Given the description of an element on the screen output the (x, y) to click on. 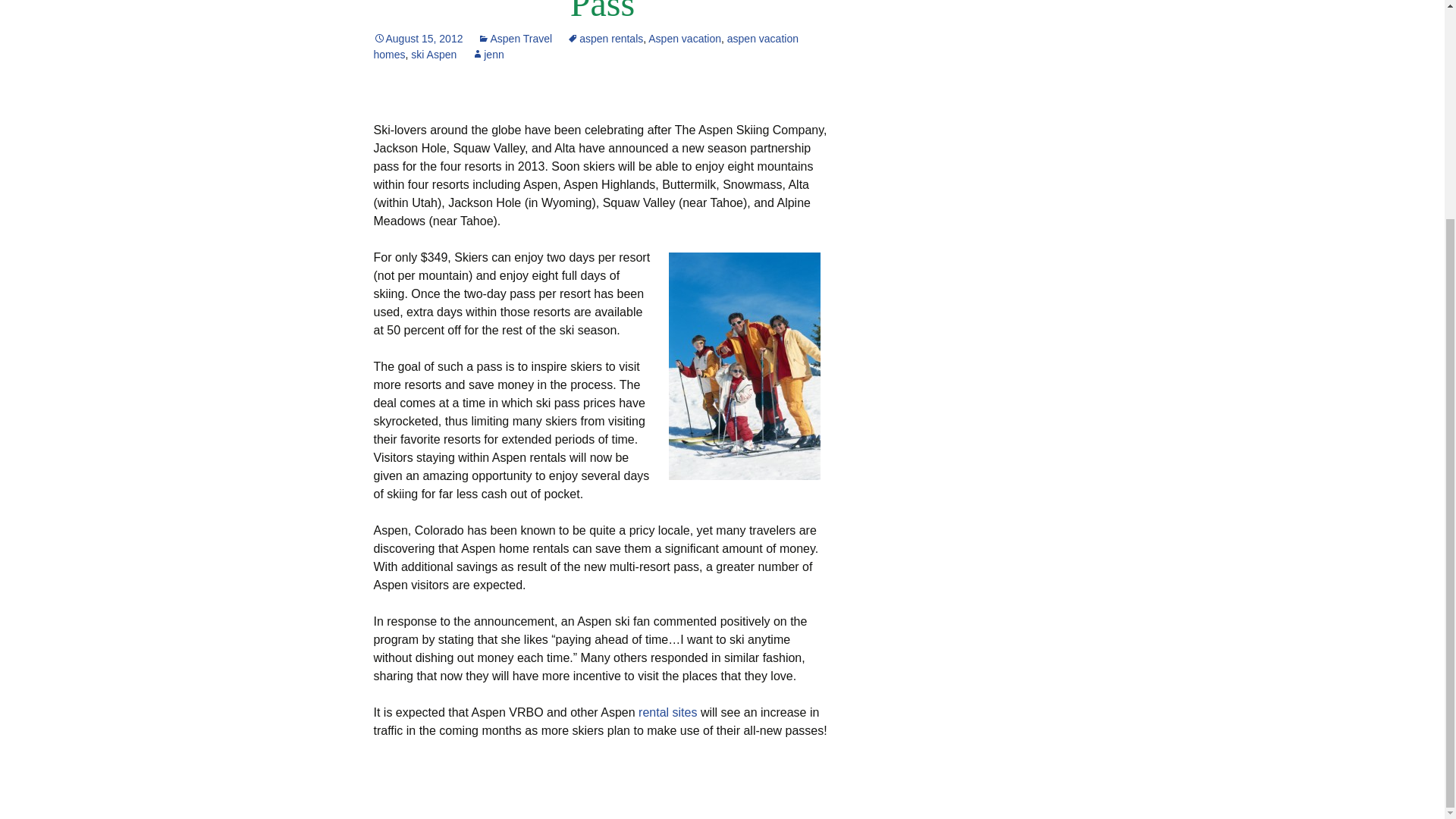
View all posts by jenn (487, 54)
Aspen Travel (514, 38)
Aspen vacation (683, 38)
jenn (487, 54)
aspen rentals (605, 38)
Aspen Rentals Wesbite (668, 712)
rental sites (668, 712)
aspen vacation homes (584, 46)
August 15, 2012 (417, 38)
